Given the description of an element on the screen output the (x, y) to click on. 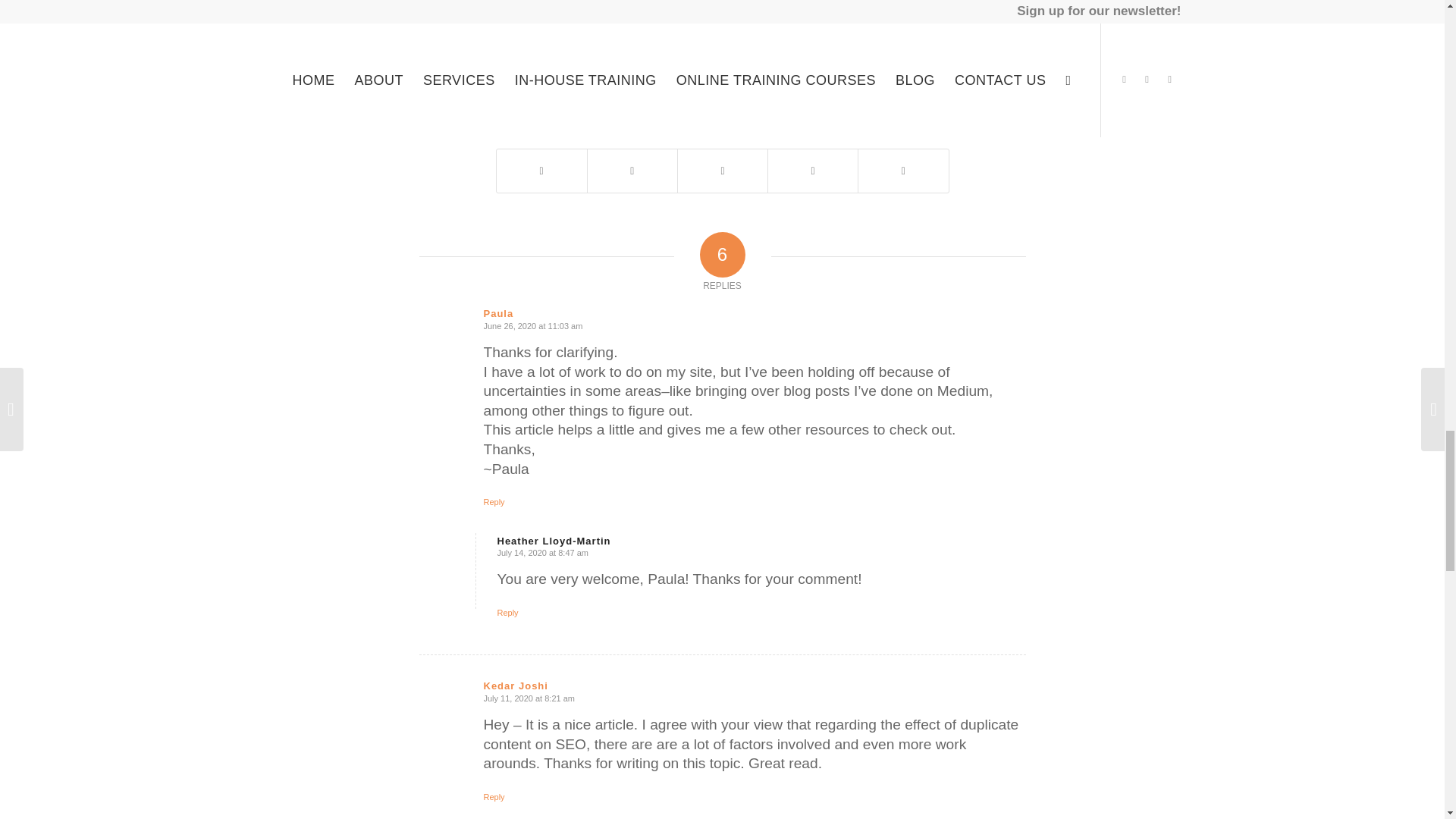
June 26, 2020 at 11:03 am (533, 325)
Reply (507, 612)
Reply (494, 501)
Paula (498, 313)
July 14, 2020 at 8:47 am (542, 552)
Kedar Joshi (515, 685)
